Given the description of an element on the screen output the (x, y) to click on. 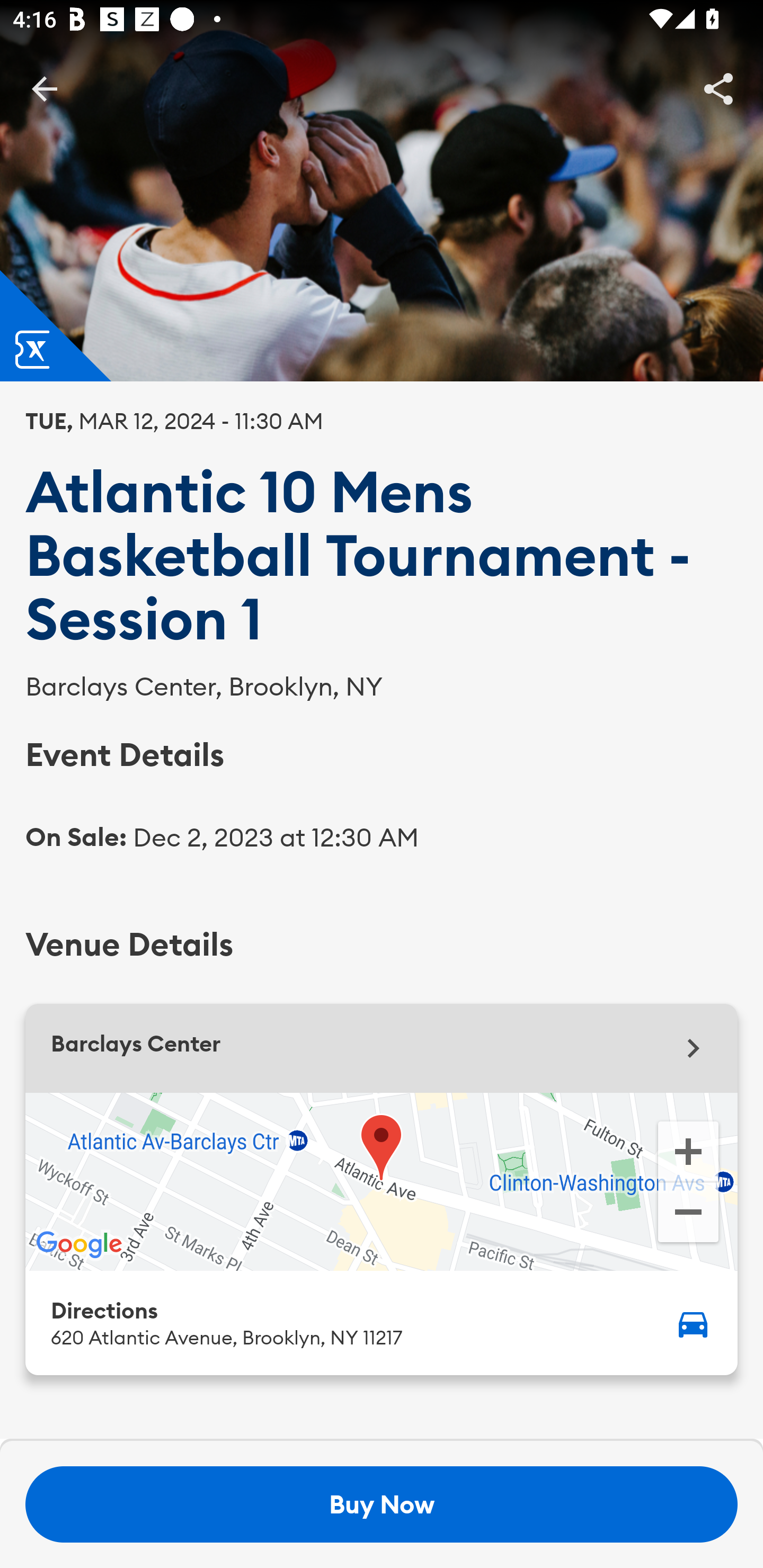
BackButton (44, 88)
Share (718, 88)
Barclays Center (381, 1047)
Google Map Barclays Center.  Zoom in Zoom out (381, 1181)
Zoom in (687, 1149)
Zoom out (687, 1214)
Directions 620 Atlantic Avenue, Brooklyn, NY 11217 (381, 1322)
Buy Now (381, 1504)
